Given the description of an element on the screen output the (x, y) to click on. 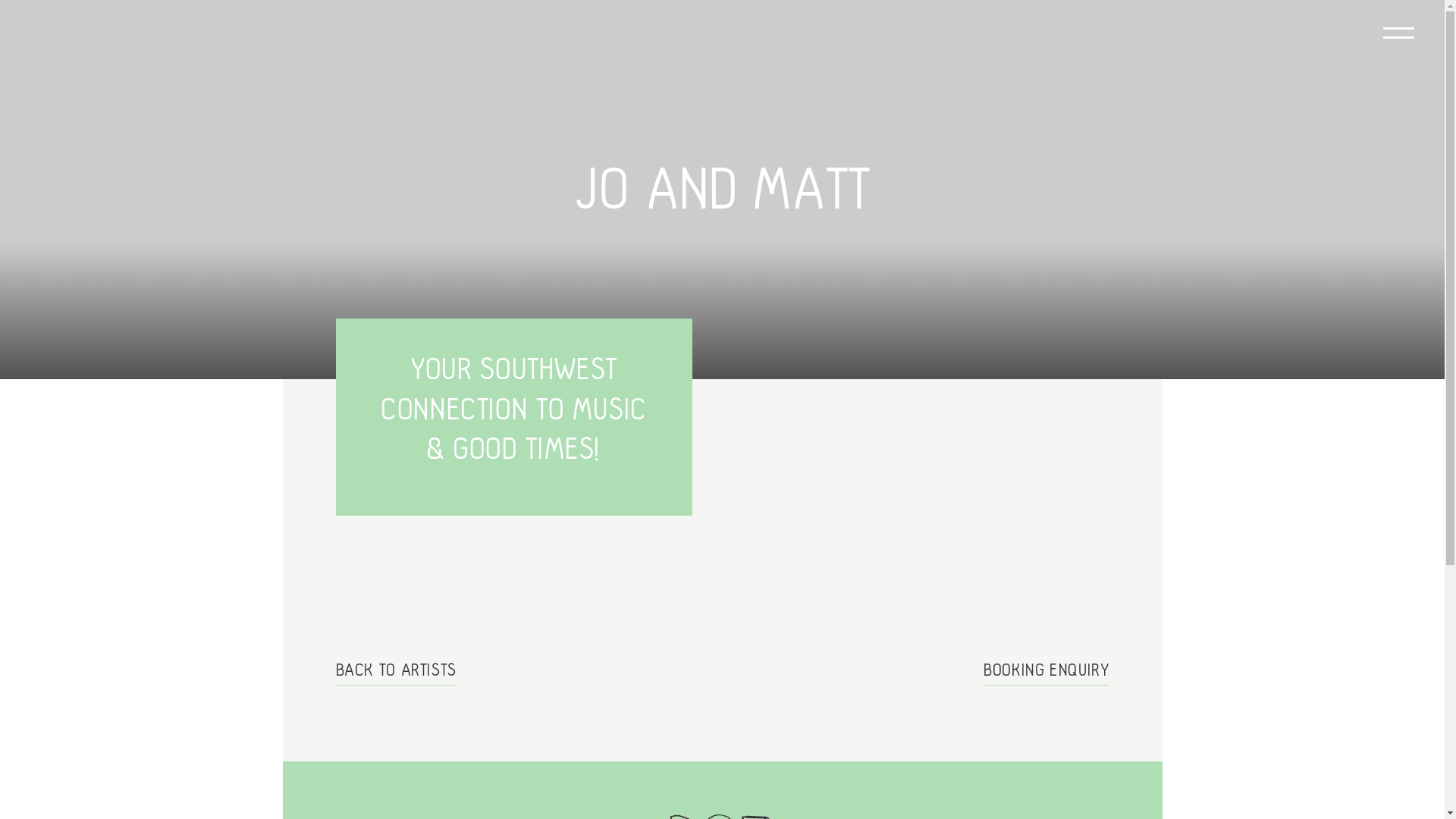
BACK TO ARTISTS Element type: text (395, 670)
BOOKING ENQUIRY Element type: text (1045, 670)
